Given the description of an element on the screen output the (x, y) to click on. 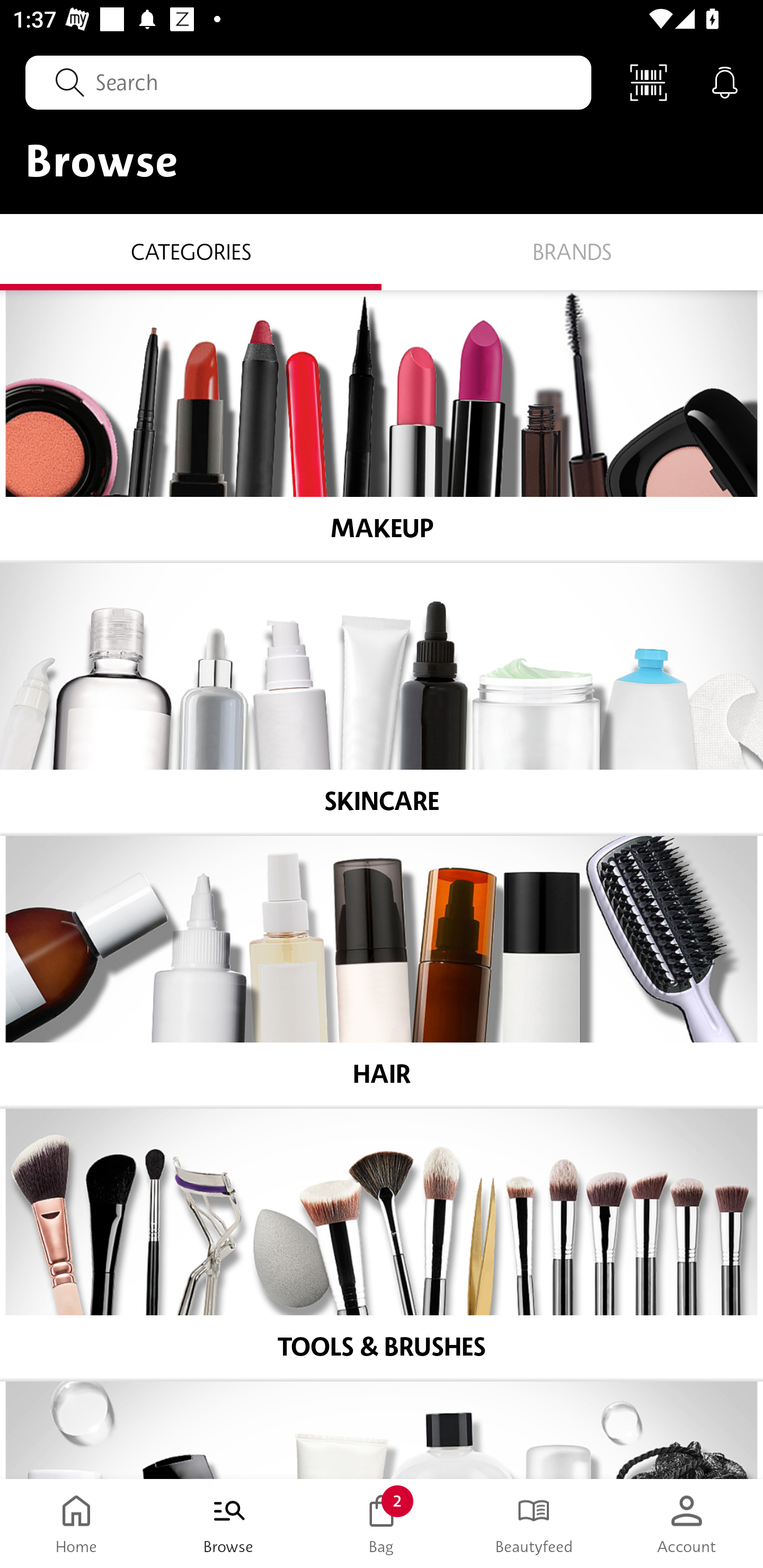
Scan Code (648, 81)
Notifications (724, 81)
Search (308, 81)
Brands BRANDS (572, 251)
MAKEUP (381, 425)
SKINCARE (381, 698)
HAIR (381, 971)
TOOLS & BRUSHES (381, 1243)
Home (76, 1523)
Bag 2 Bag (381, 1523)
Beautyfeed (533, 1523)
Account (686, 1523)
